Given the description of an element on the screen output the (x, y) to click on. 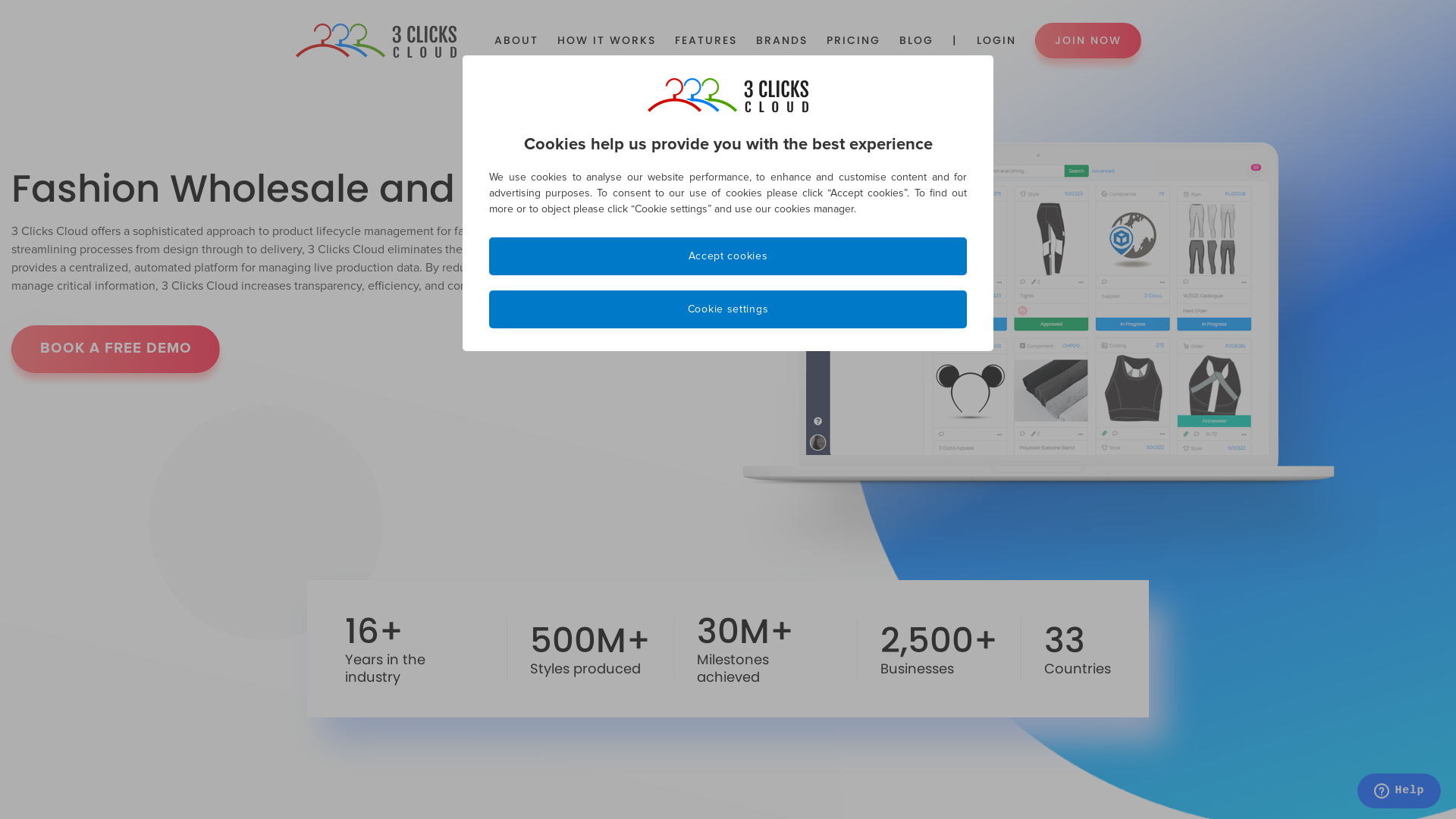
Opens a widget where you can chat to one of our agents Element type: hover (1398, 792)
BOOK A FREE DEMO Element type: text (115, 349)
| Element type: text (954, 40)
HOW IT WORKS Element type: text (606, 40)
JOIN NOW Element type: text (1088, 40)
Accept cookies Element type: text (727, 256)
FEATURES Element type: text (705, 40)
BRANDS Element type: text (781, 40)
PRICING Element type: text (853, 40)
LOGIN Element type: text (996, 40)
ABOUT Element type: text (516, 40)
BLOG Element type: text (916, 40)
Cookie settings Element type: text (727, 309)
